Given the description of an element on the screen output the (x, y) to click on. 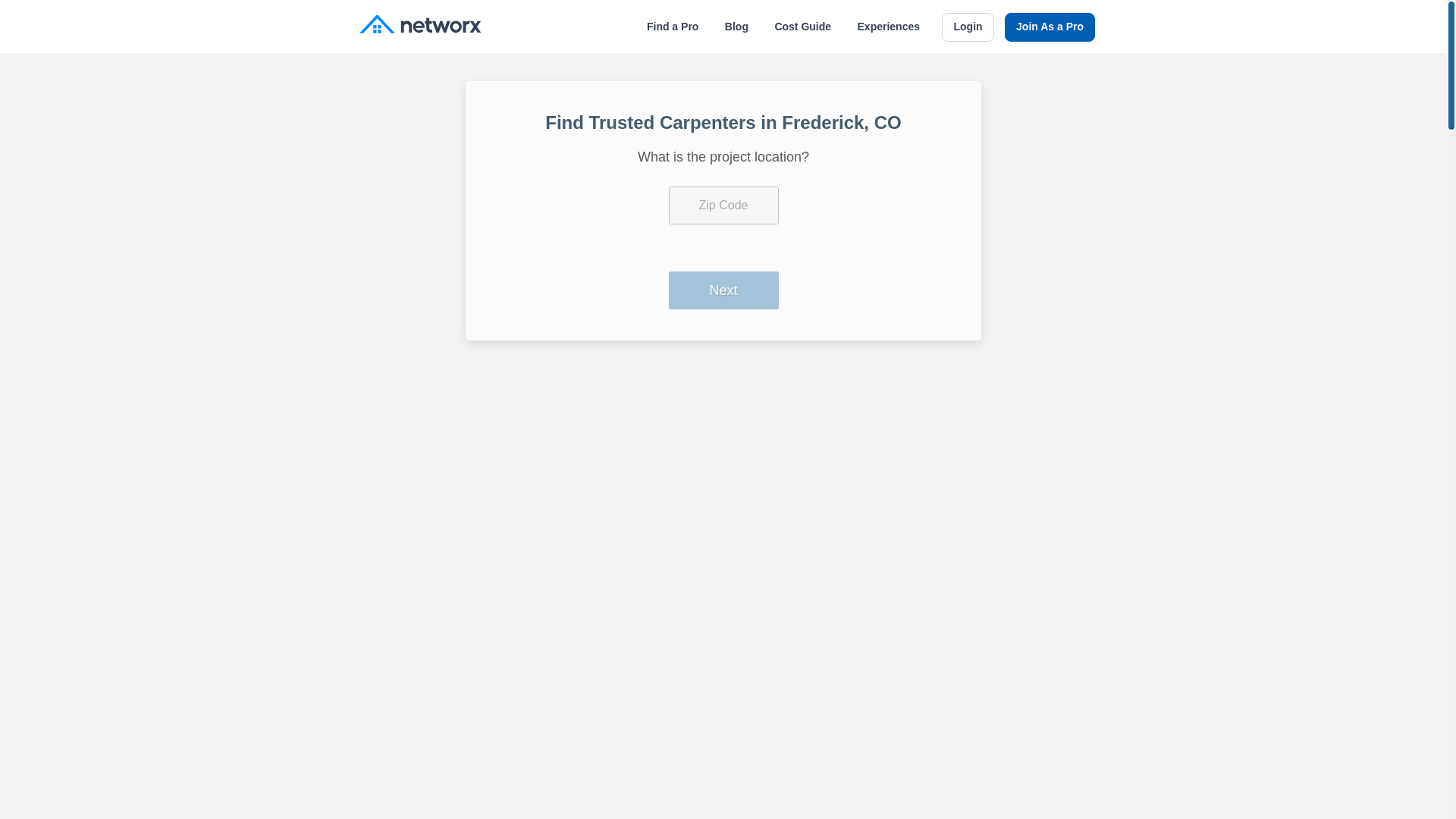
Next (723, 290)
Join As a Pro (1049, 27)
Please enter a valid zip code (723, 205)
Cost Guide (802, 26)
Find a Pro (672, 26)
Experiences (888, 26)
Login (967, 27)
Networx (419, 25)
